Given the description of an element on the screen output the (x, y) to click on. 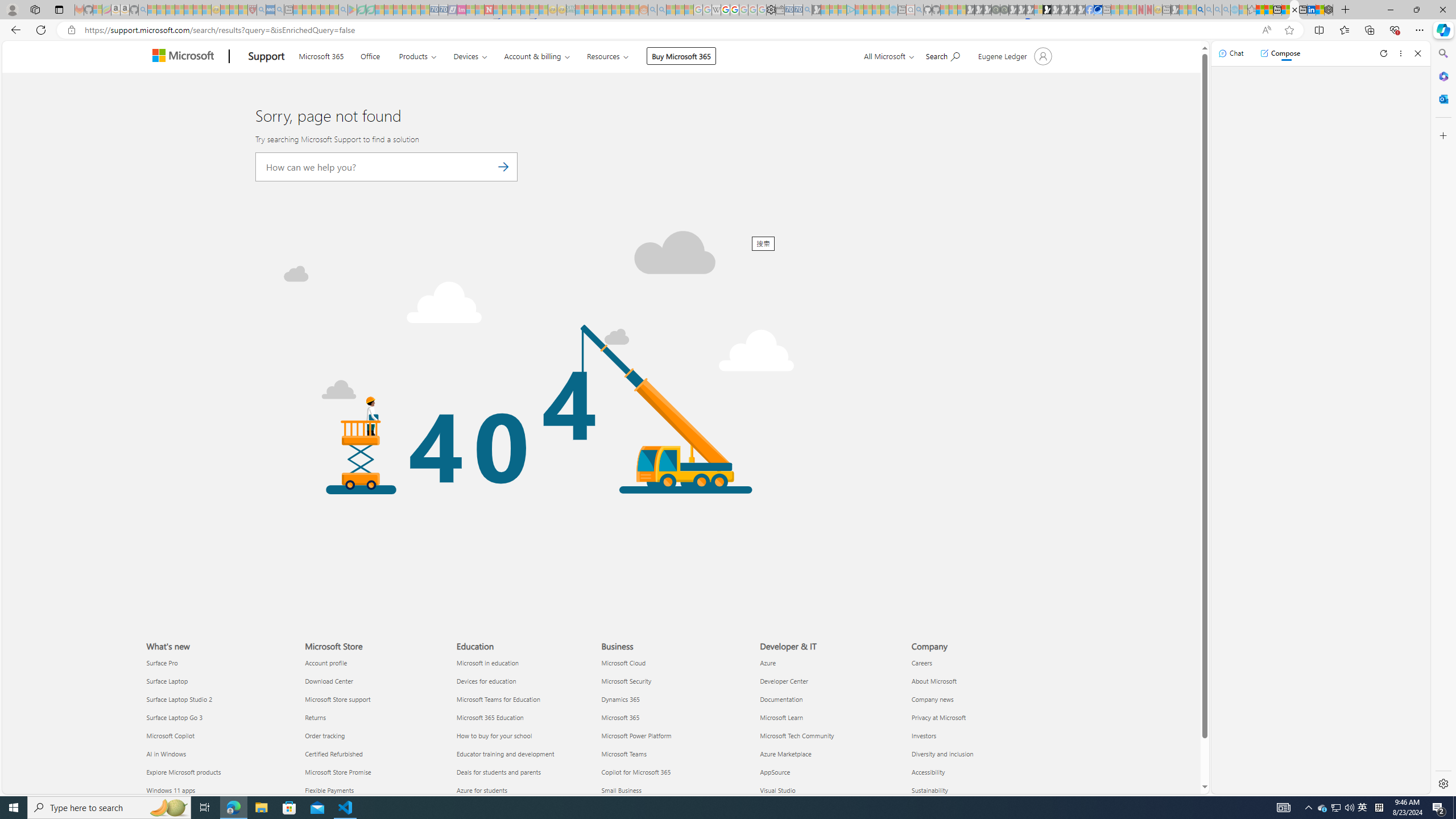
Developer Center Developer & IT (784, 680)
Azure Developer & IT (768, 662)
Surface Laptop Studio 2 (218, 698)
Microsoft in education Education (487, 662)
Microsoft Learn Developer & IT (781, 716)
Diversity and inclusion Company (942, 753)
Aberdeen, Hong Kong SAR weather forecast | Microsoft Weather (1268, 9)
